Given the description of an element on the screen output the (x, y) to click on. 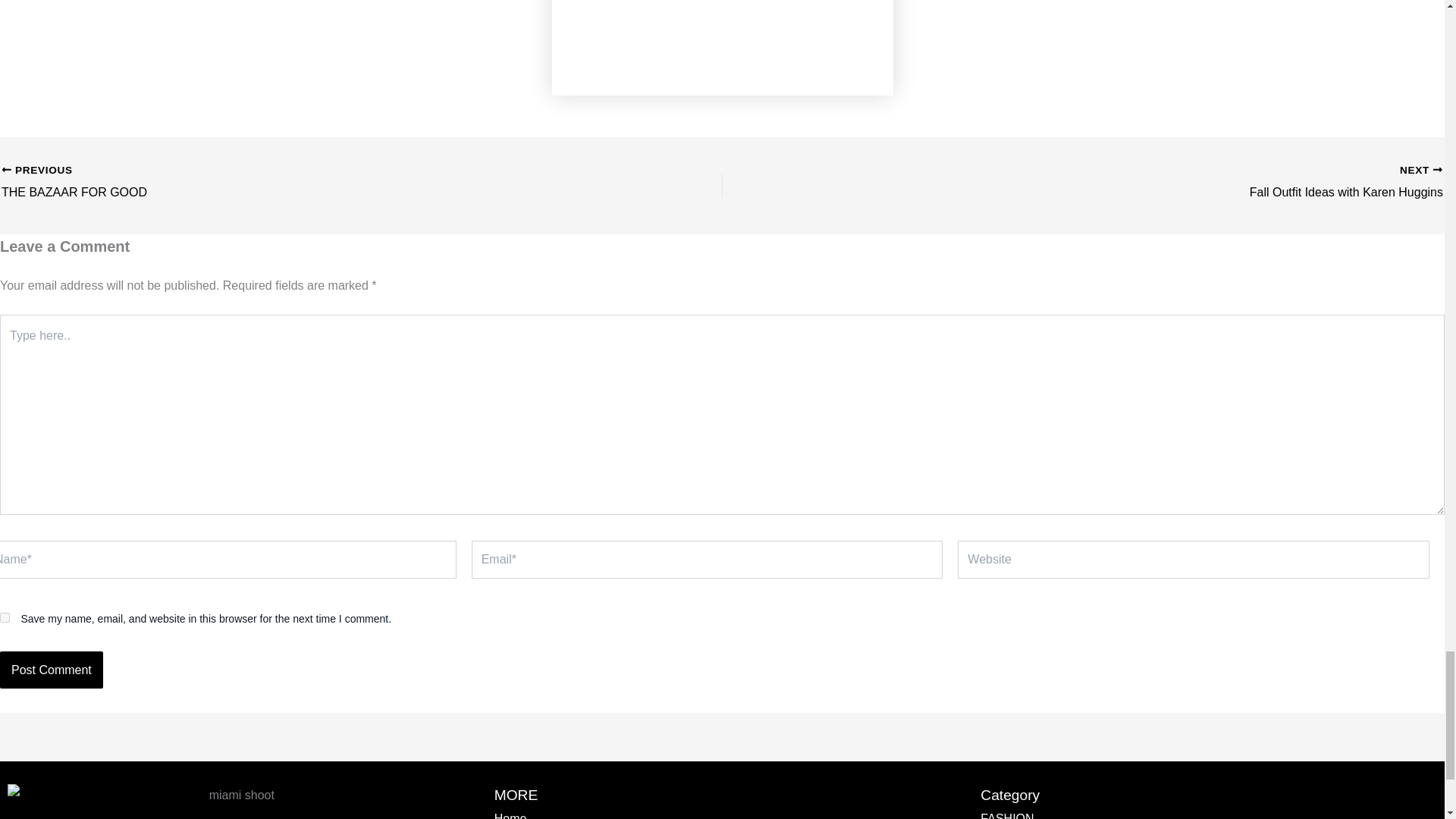
Post Comment (51, 670)
yes (5, 617)
Fall Outfit Ideas with Karen Huggins (1153, 182)
THE BAZAAR FOR GOOD (290, 182)
